Given the description of an element on the screen output the (x, y) to click on. 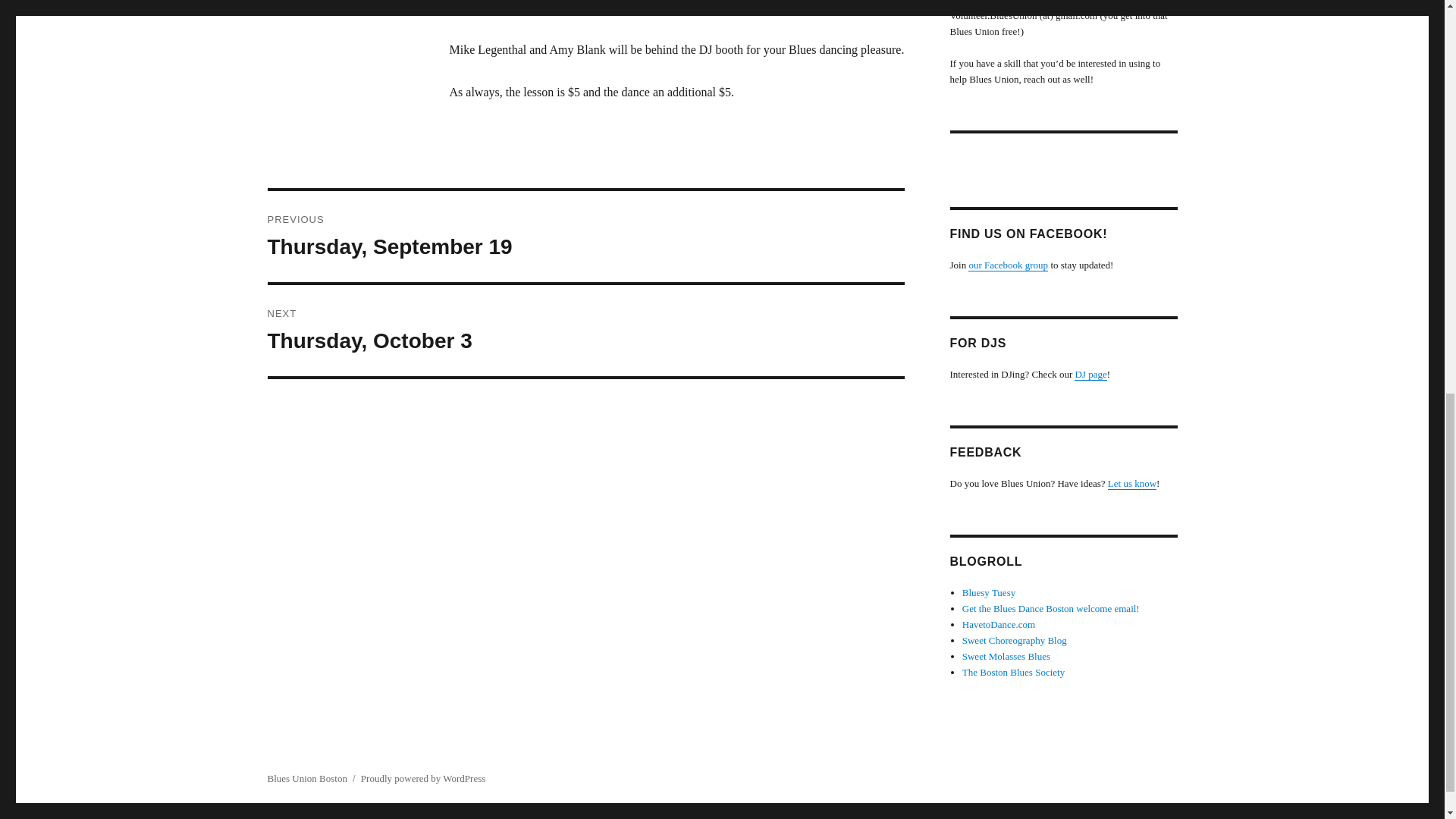
Get the Blues Dance Boston welcome email! (585, 235)
The Boston Blues Society (585, 330)
Let us know (1051, 608)
DJ page (1013, 672)
Sweet Molasses Blues (1132, 482)
HavetoDance.com (1090, 374)
Bluesy Tuesy (1005, 655)
